Given the description of an element on the screen output the (x, y) to click on. 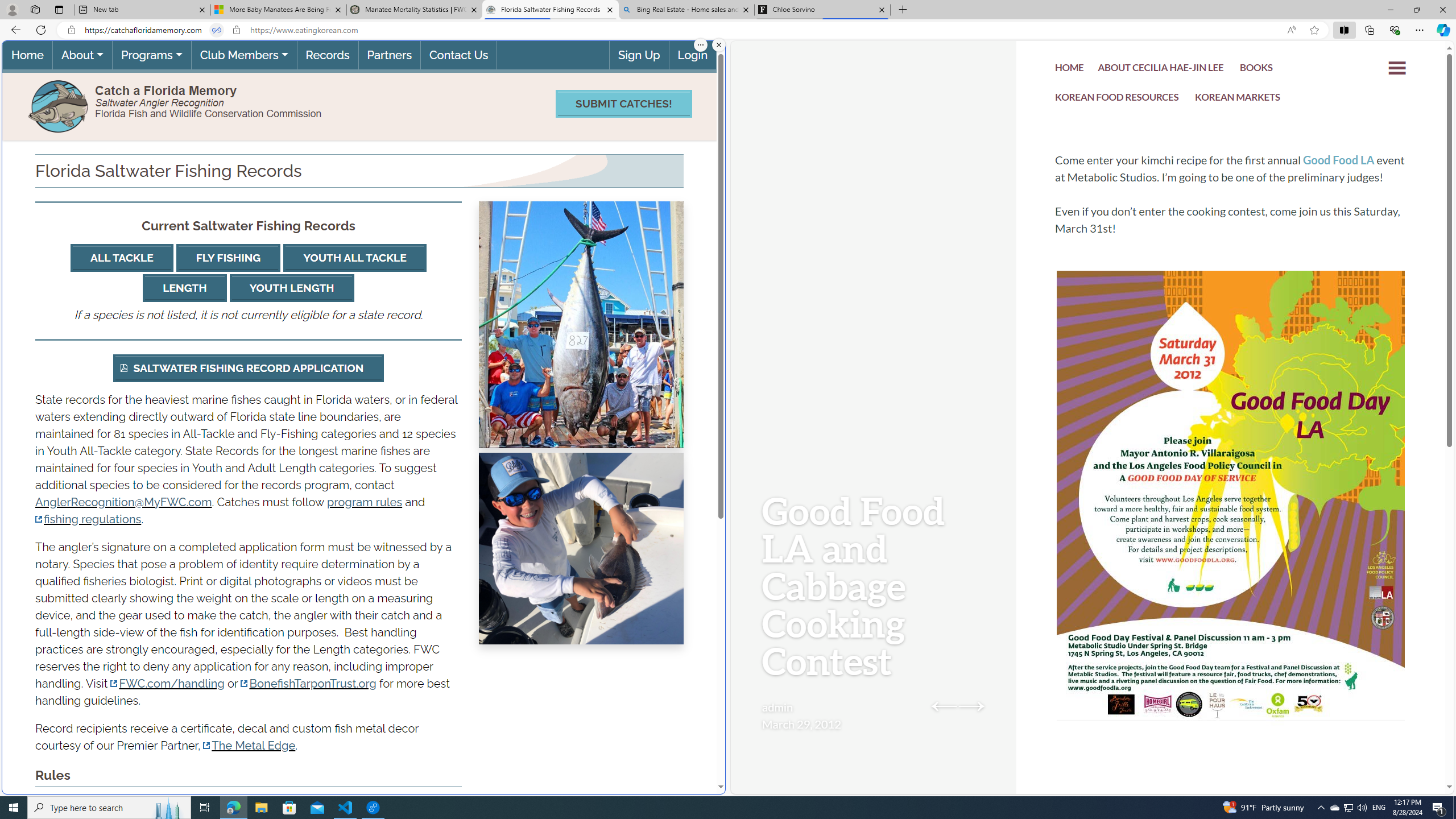
Home(current) (27, 54)
FWC.com/handling (167, 683)
Club Members (243, 54)
Programs (151, 54)
good food la poster (1231, 530)
About (82, 54)
Sign Up (638, 54)
Good Food LA (1338, 160)
KOREAN FOOD RESOURCES (1117, 99)
Florida Saltwater Fishing Records (550, 9)
BonefishTarponTrust.org (308, 683)
